Given the description of an element on the screen output the (x, y) to click on. 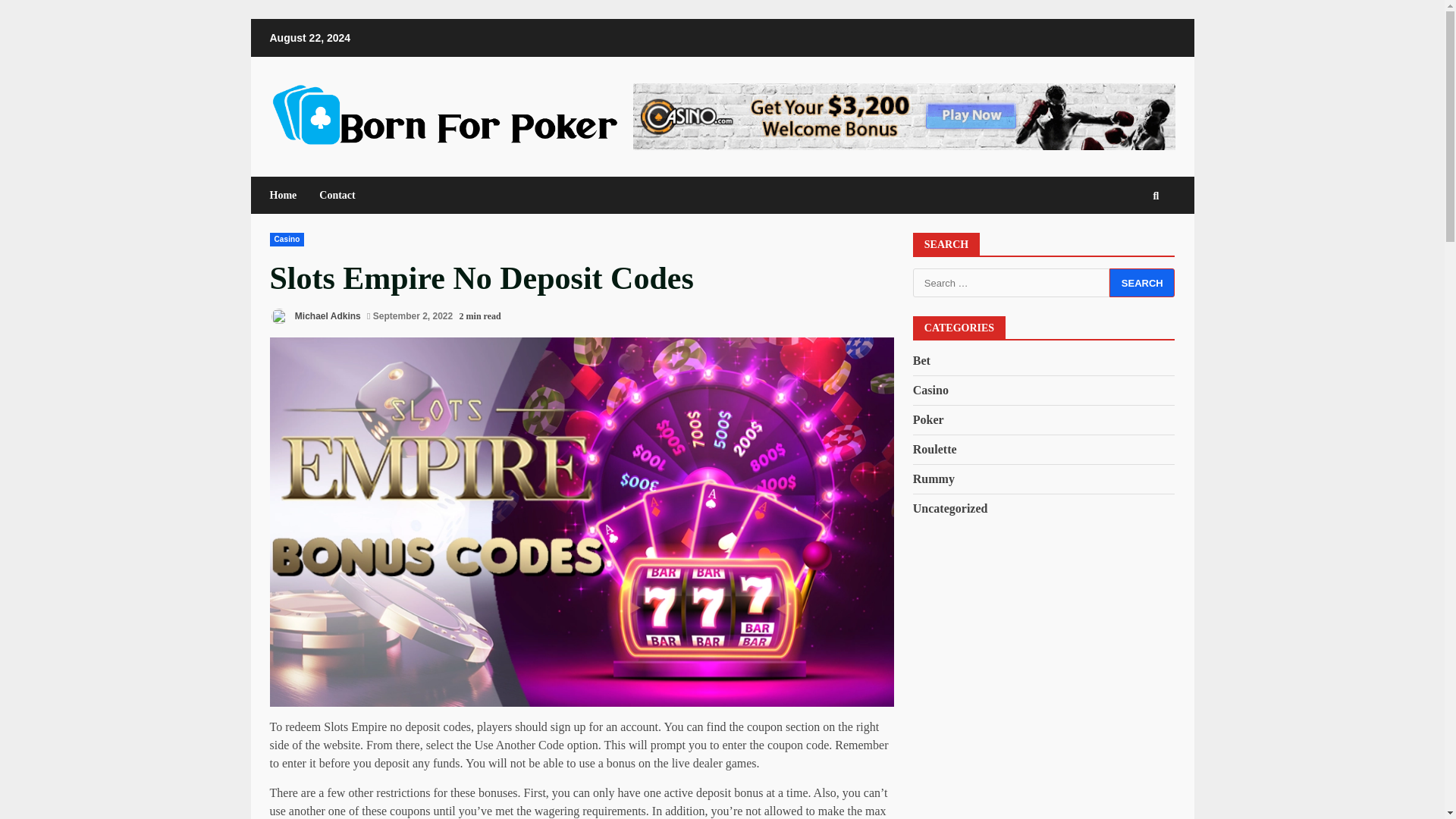
Search (1141, 282)
Poker (927, 420)
Search (1128, 240)
Michael Adkins (315, 316)
Uncategorized (950, 508)
Roulette (934, 449)
Home (288, 194)
Bet (921, 361)
Search (1141, 282)
Rummy (933, 479)
